Given the description of an element on the screen output the (x, y) to click on. 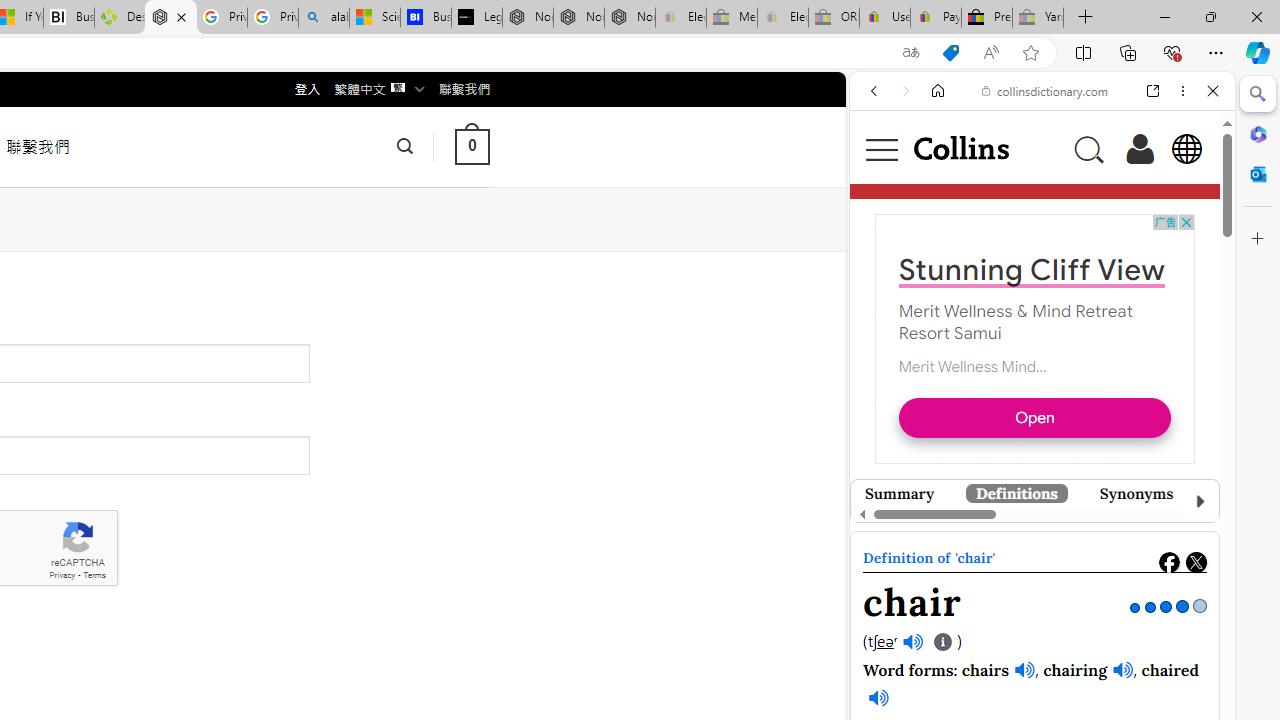
chairperson (985, 615)
Go to the homepage (960, 148)
Definitions (1016, 493)
 0  (472, 146)
